Given the description of an element on the screen output the (x, y) to click on. 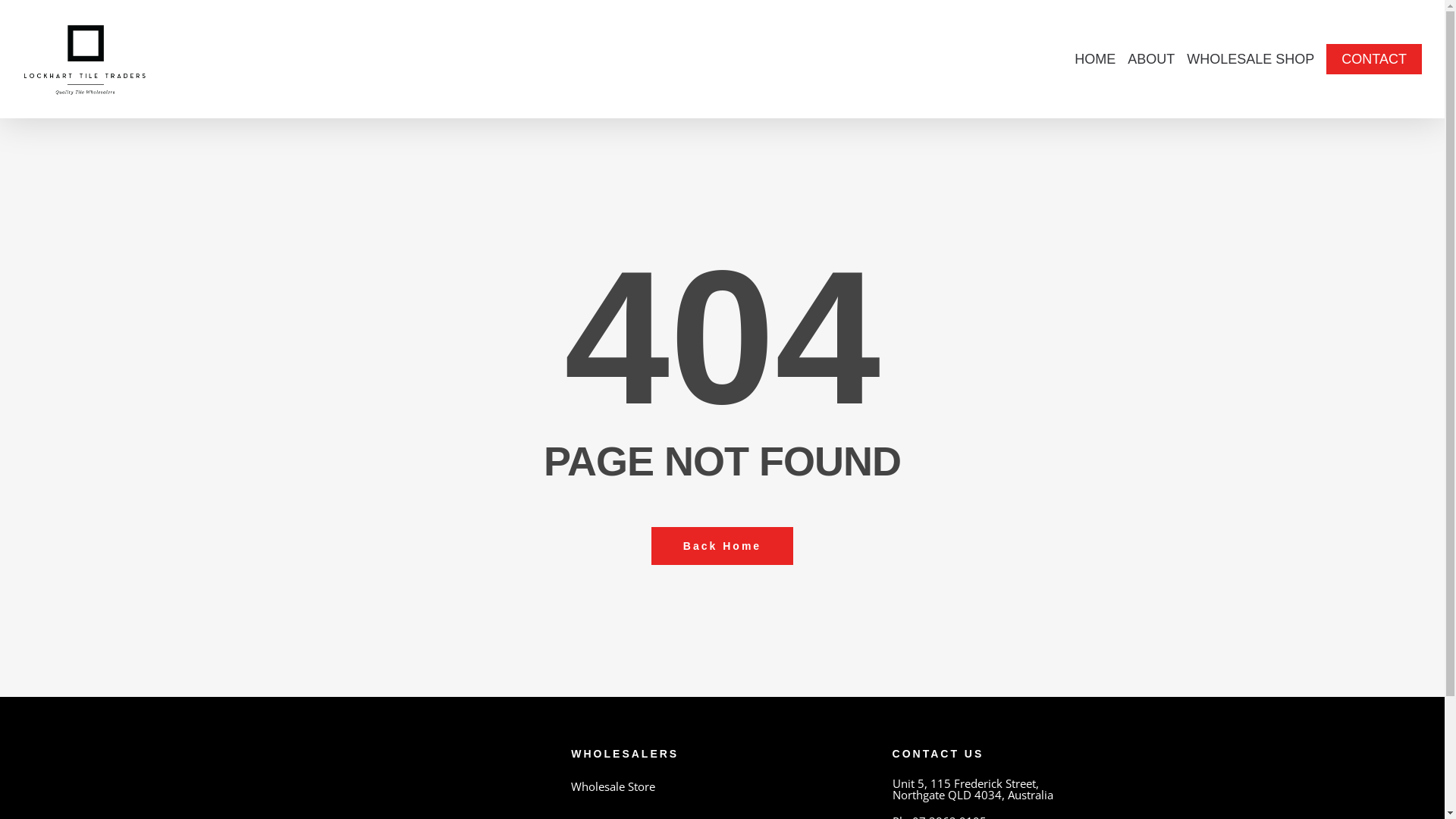
CONTACT Element type: text (1373, 58)
WHOLESALE SHOP Element type: text (1250, 58)
Wholesale Store Element type: text (721, 786)
HOME Element type: text (1094, 58)
ABOUT Element type: text (1150, 58)
Back Home Element type: text (722, 545)
